Given the description of an element on the screen output the (x, y) to click on. 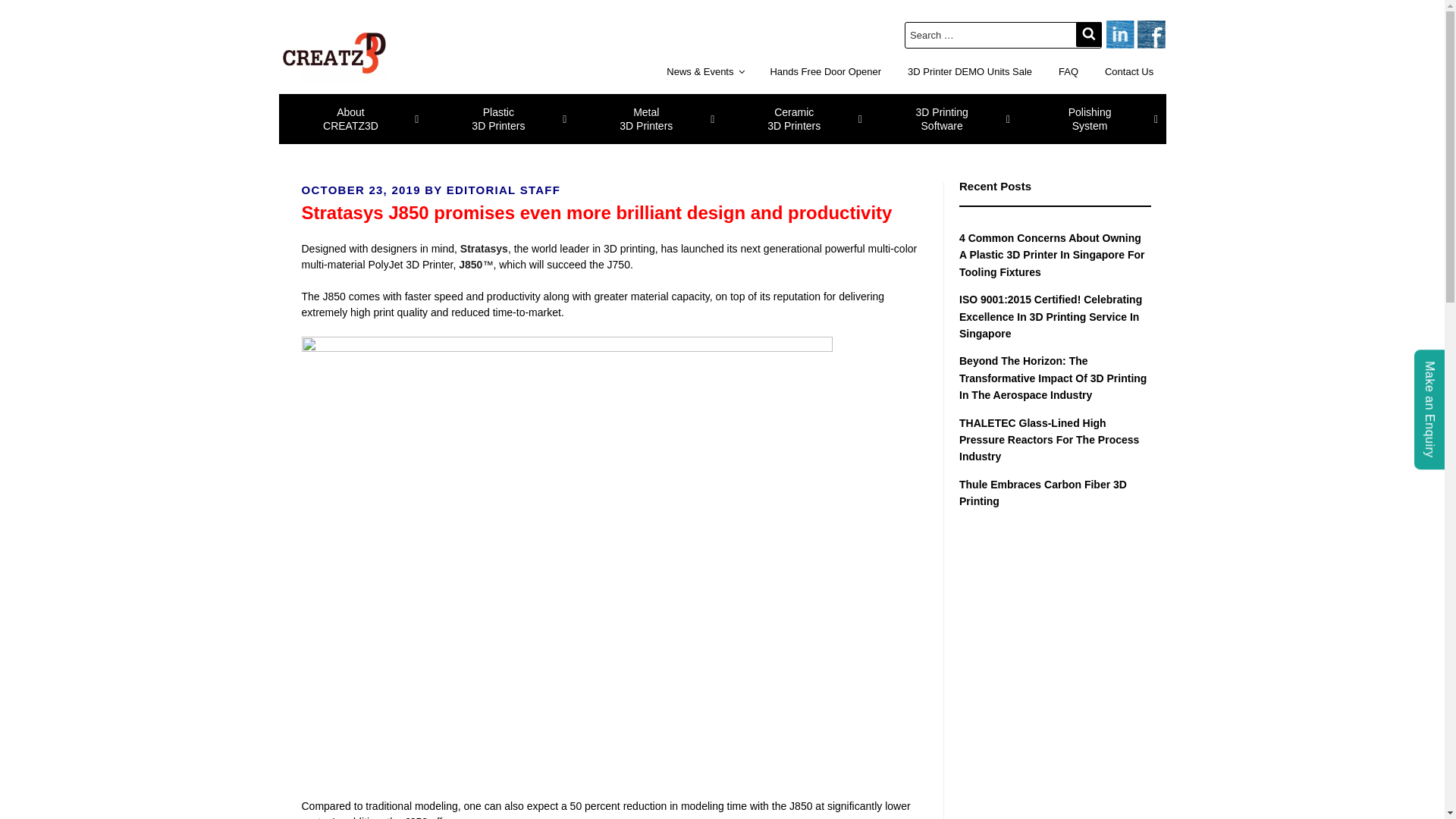
3D Printer DEMO Units Sale (795, 119)
Visit Us On Facebook (352, 119)
Contact Us (970, 71)
Hands Free Door Opener (1150, 33)
Visit Us On Linkedin (943, 119)
FAQ (1129, 71)
